Given the description of an element on the screen output the (x, y) to click on. 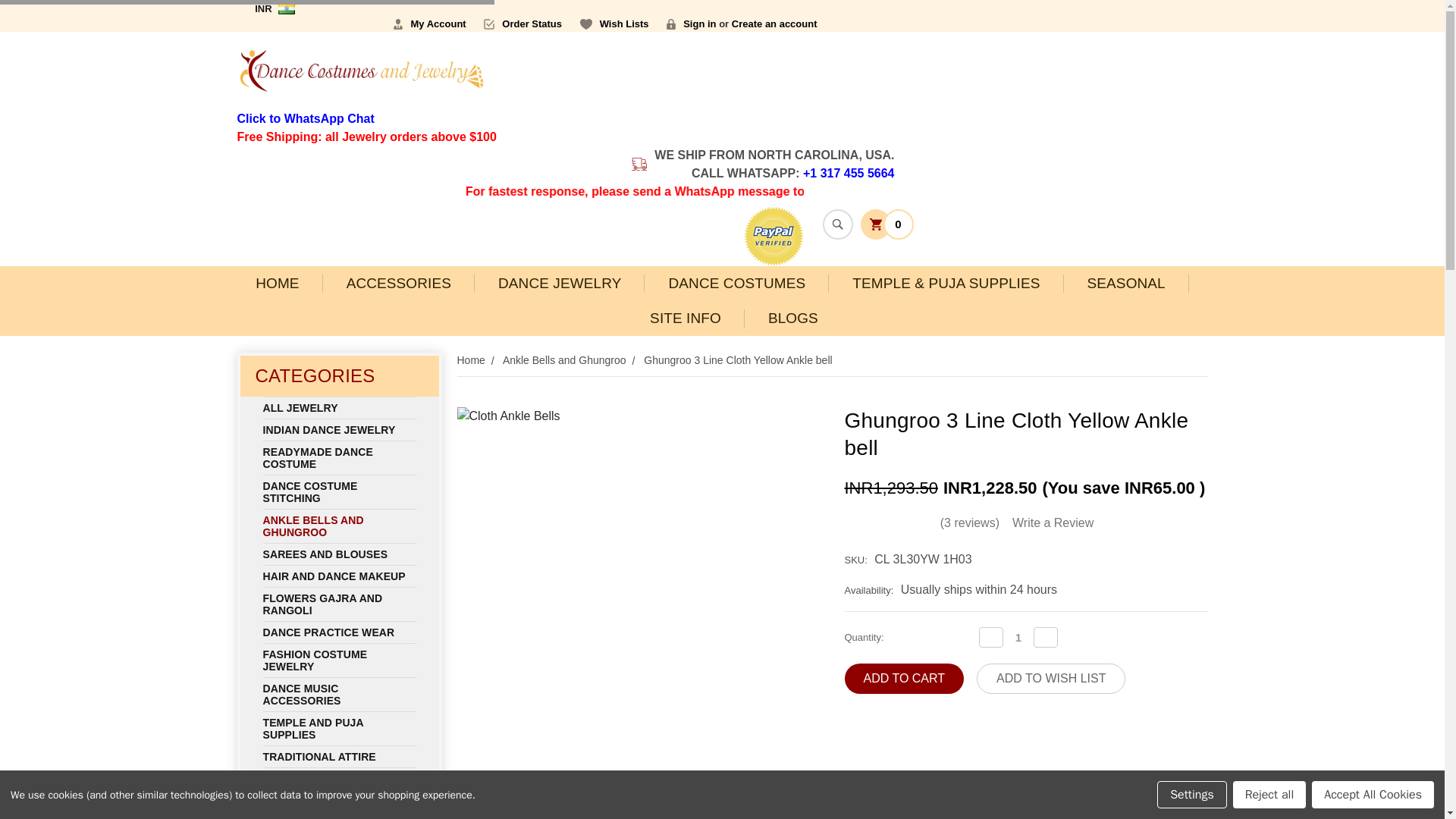
0 (886, 223)
Wish Lists (614, 23)
1 (1018, 636)
Dance Costumes And Jewelry (359, 70)
Add to Cart (903, 678)
Cloth Ankle Bells (489, 802)
Sign in (691, 23)
INR (280, 7)
Create an account (774, 23)
Cloth Ankle Bells (638, 588)
